Given the description of an element on the screen output the (x, y) to click on. 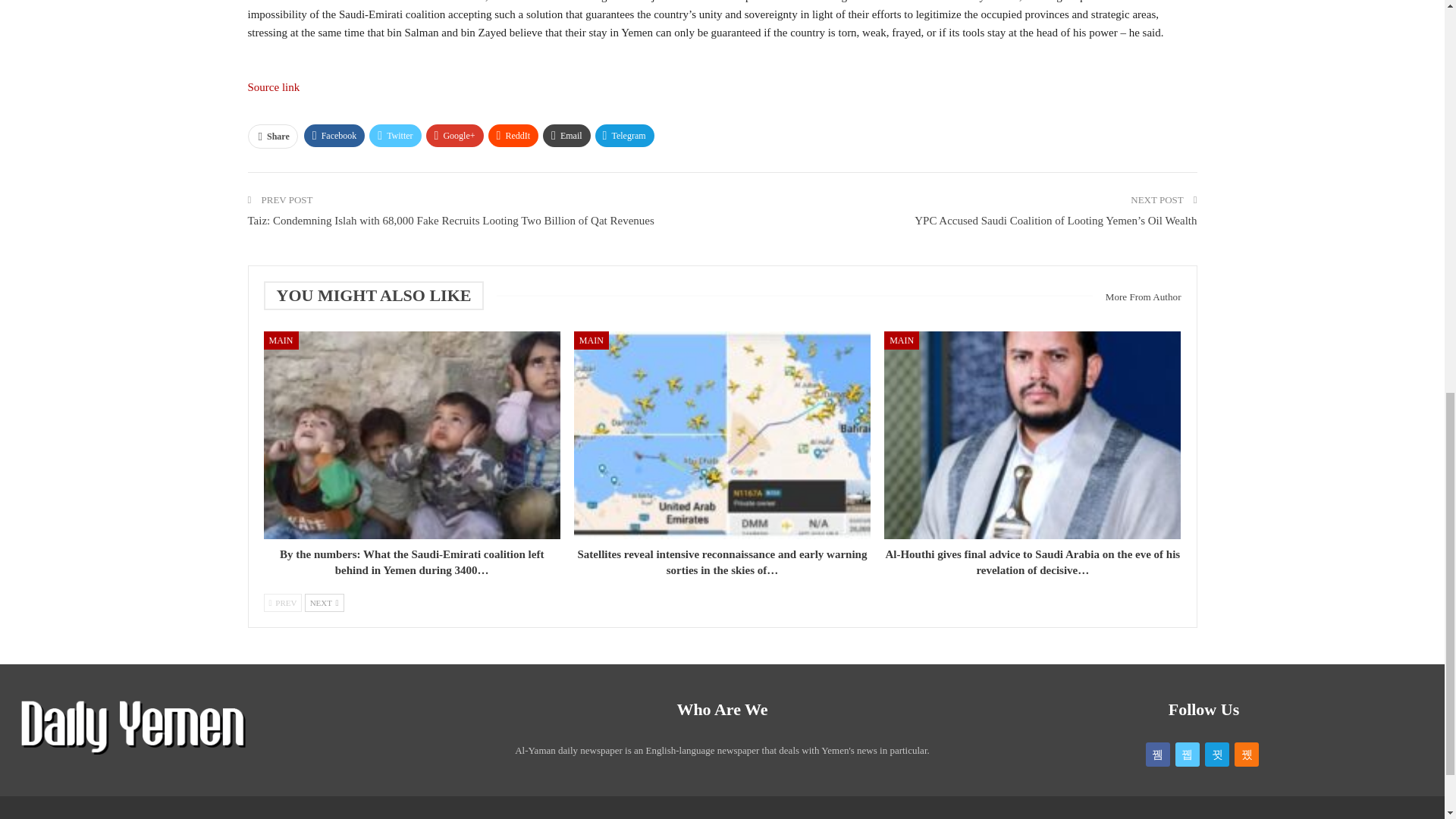
Previous (282, 602)
Next (323, 602)
Source link (273, 87)
